Given the description of an element on the screen output the (x, y) to click on. 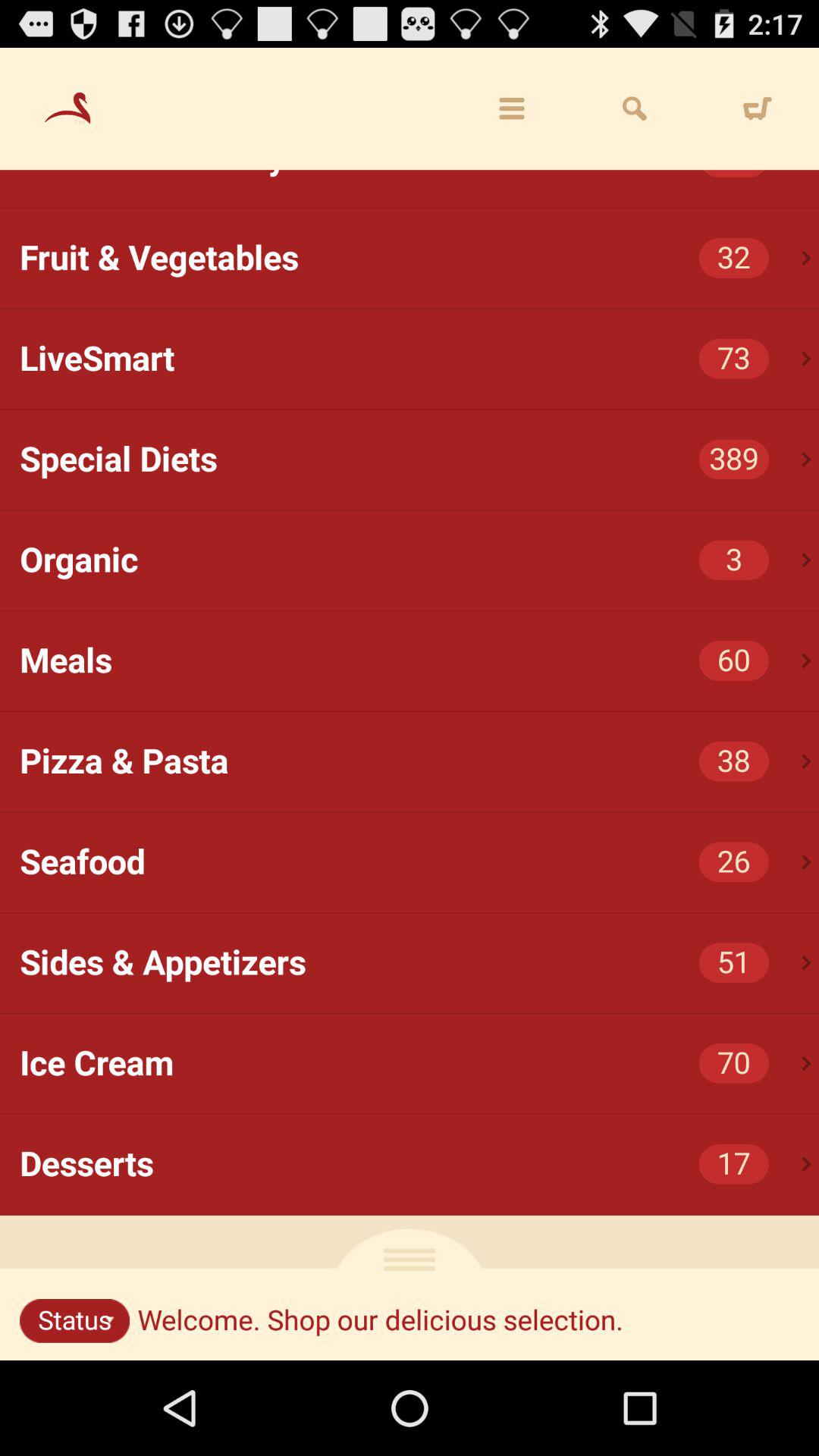
swipe until ice cream item (419, 1063)
